Given the description of an element on the screen output the (x, y) to click on. 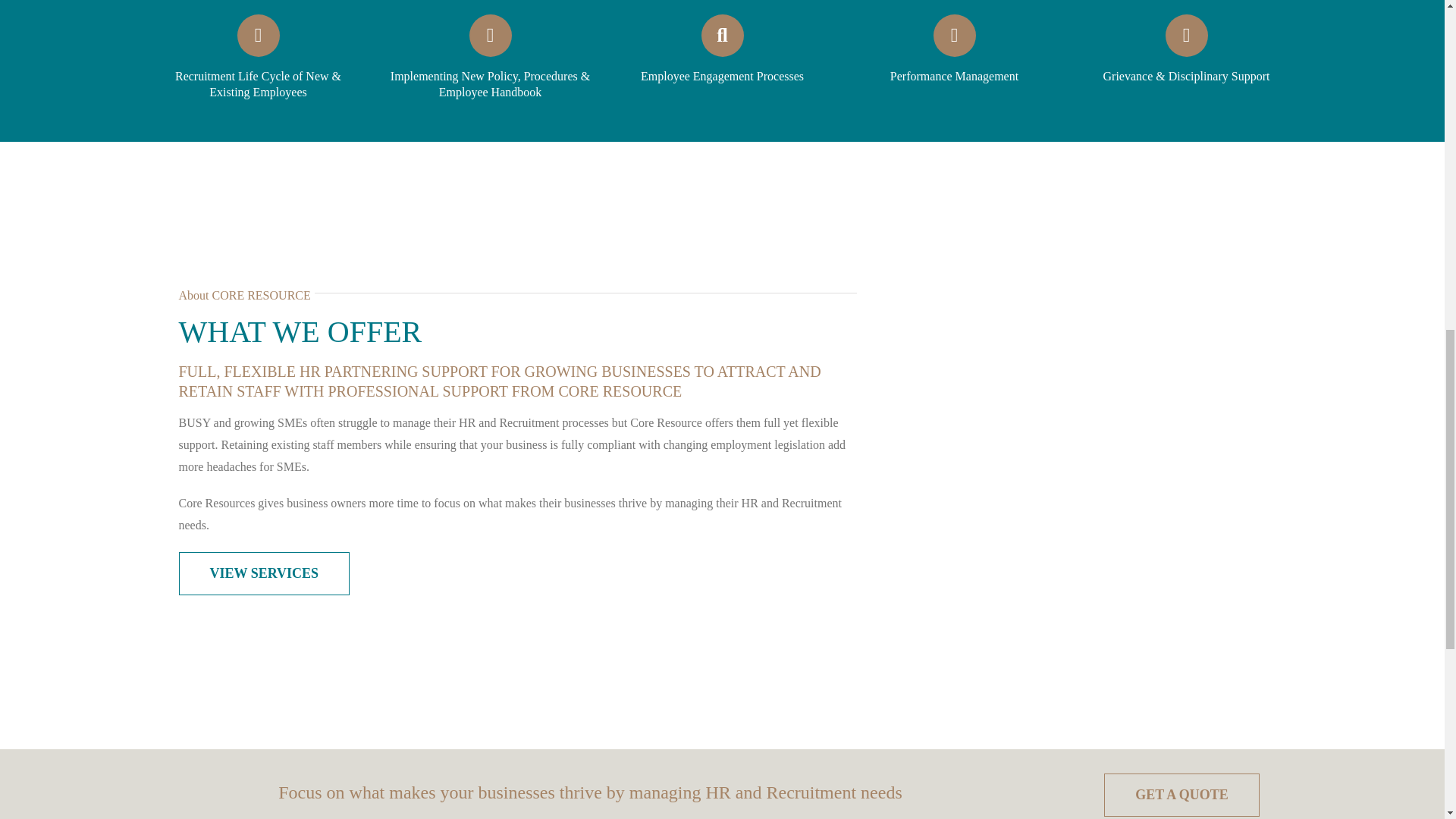
GET A QUOTE (1181, 794)
VIEW SERVICES (264, 573)
